Given the description of an element on the screen output the (x, y) to click on. 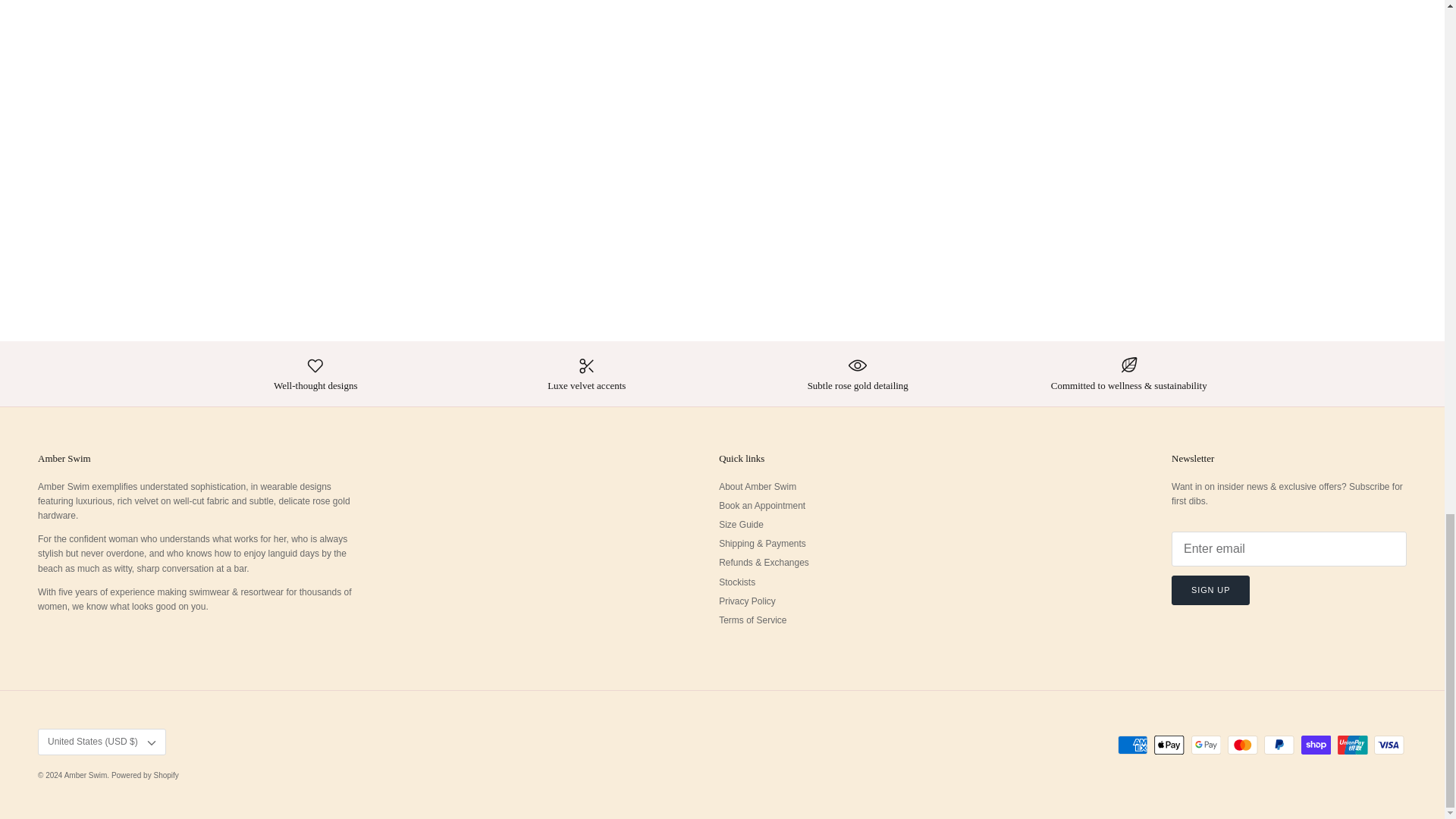
Google Pay (1206, 744)
Apple Pay (1168, 744)
American Express (1132, 744)
